Given the description of an element on the screen output the (x, y) to click on. 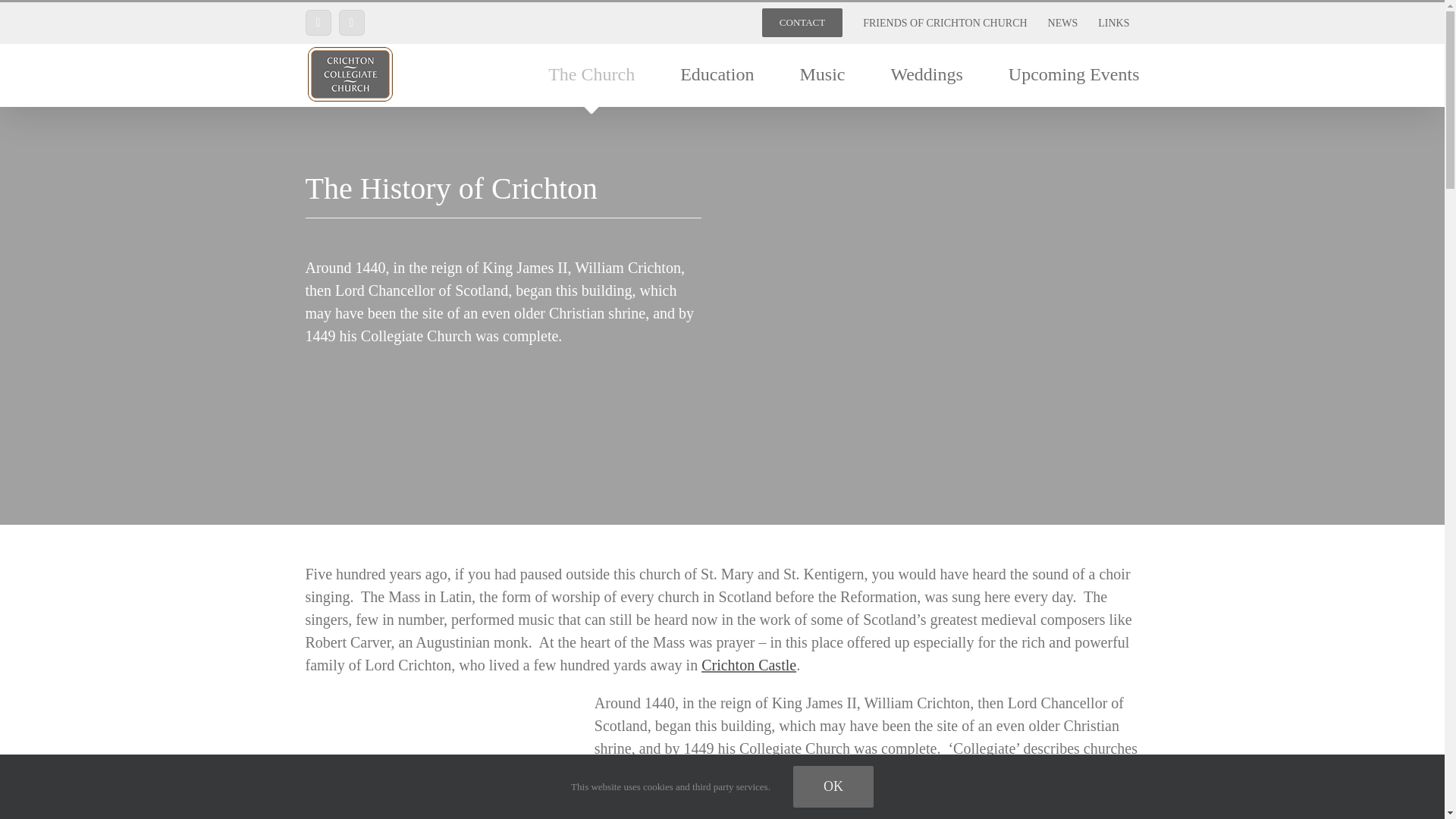
Facebook (350, 22)
X (317, 22)
Upcoming Events (1074, 74)
Facebook (350, 22)
FRIENDS OF CRICHTON CHURCH (944, 22)
NEWS (1062, 22)
CONTACT (801, 22)
Crichton Castle (748, 664)
Education (716, 74)
The Church (591, 74)
